Given the description of an element on the screen output the (x, y) to click on. 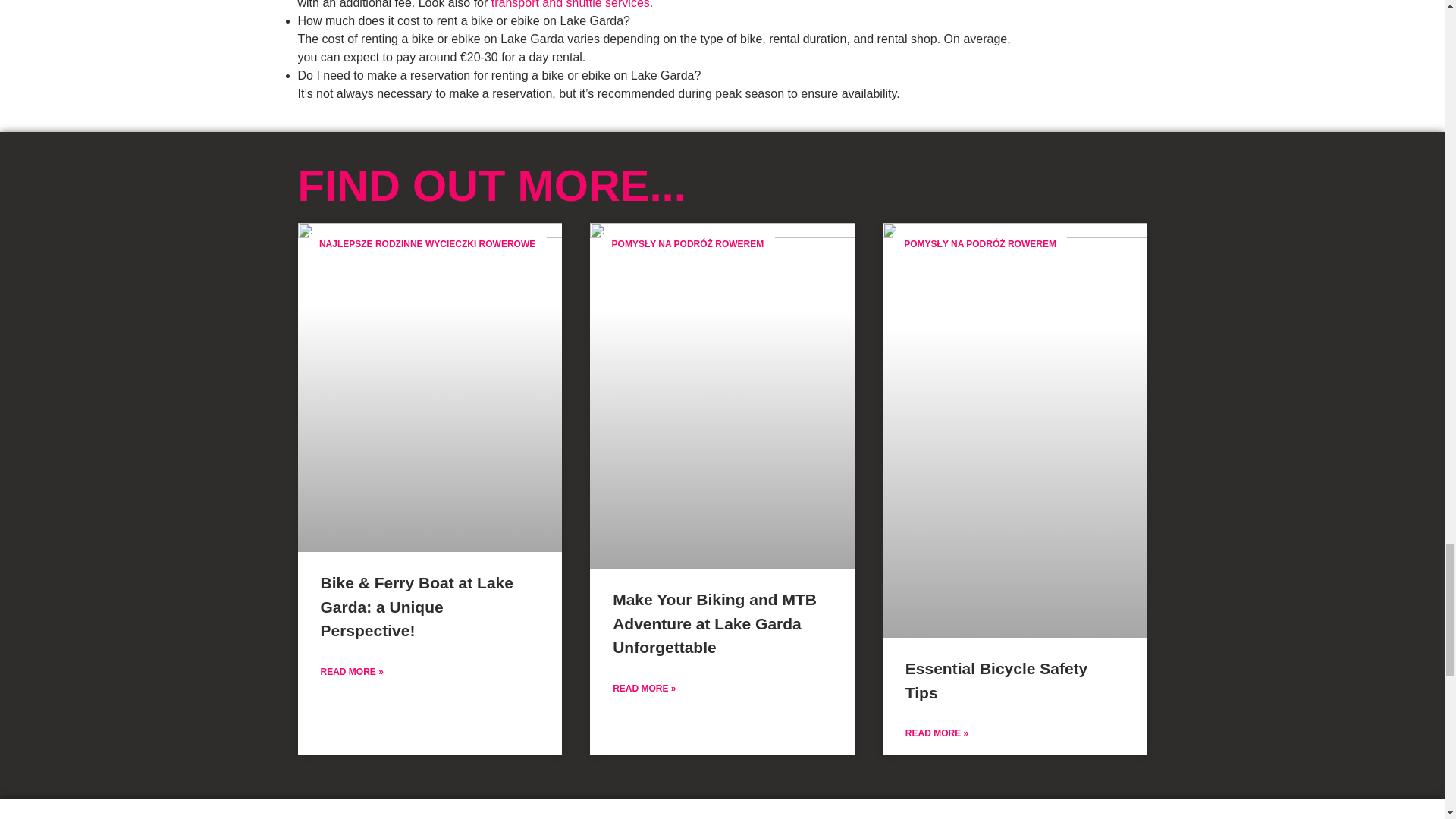
transport and shuttle services (570, 4)
Essential Bicycle Safety Tips (996, 680)
